Given the description of an element on the screen output the (x, y) to click on. 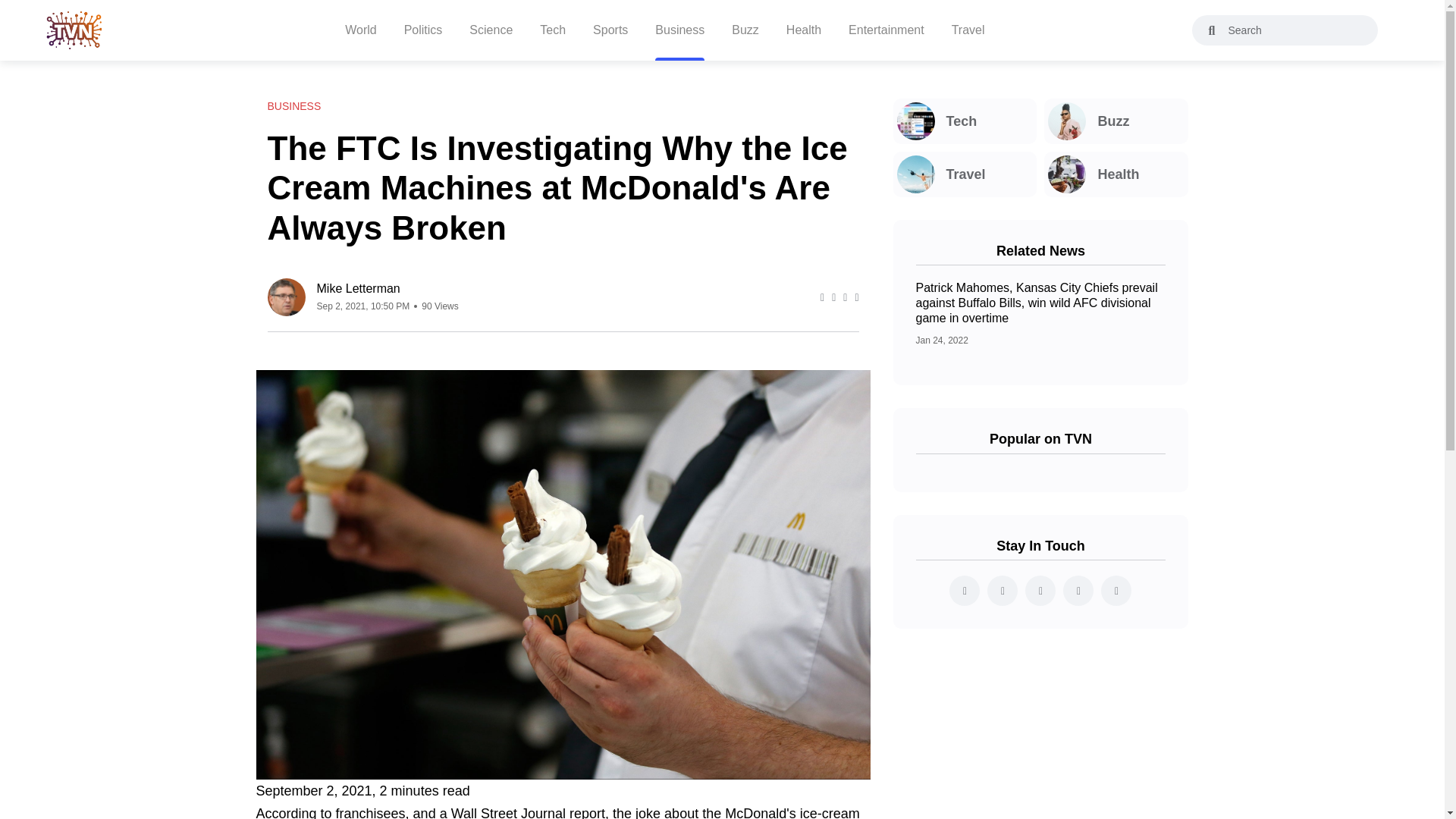
Mike Letterman (387, 288)
Buzz (1115, 121)
Tech (964, 121)
BUSINESS (293, 105)
Travel (964, 174)
Entertainment (886, 30)
Health (1115, 174)
